Given the description of an element on the screen output the (x, y) to click on. 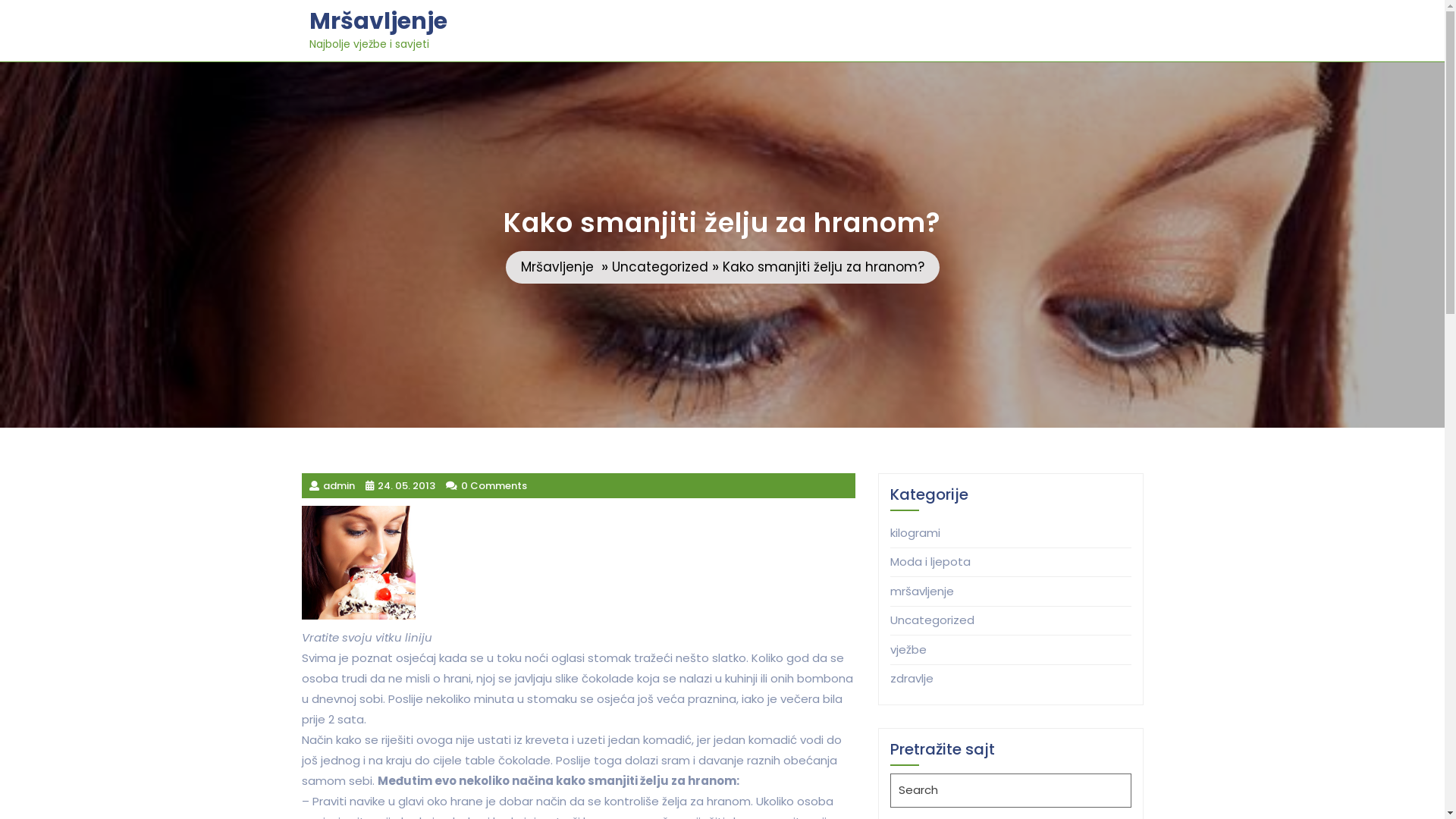
Uncategorized Element type: text (659, 267)
zdravlje Element type: text (911, 678)
kilogrami Element type: text (915, 532)
Uncategorized Element type: text (932, 619)
Moda i ljepota Element type: text (930, 561)
